Given the description of an element on the screen output the (x, y) to click on. 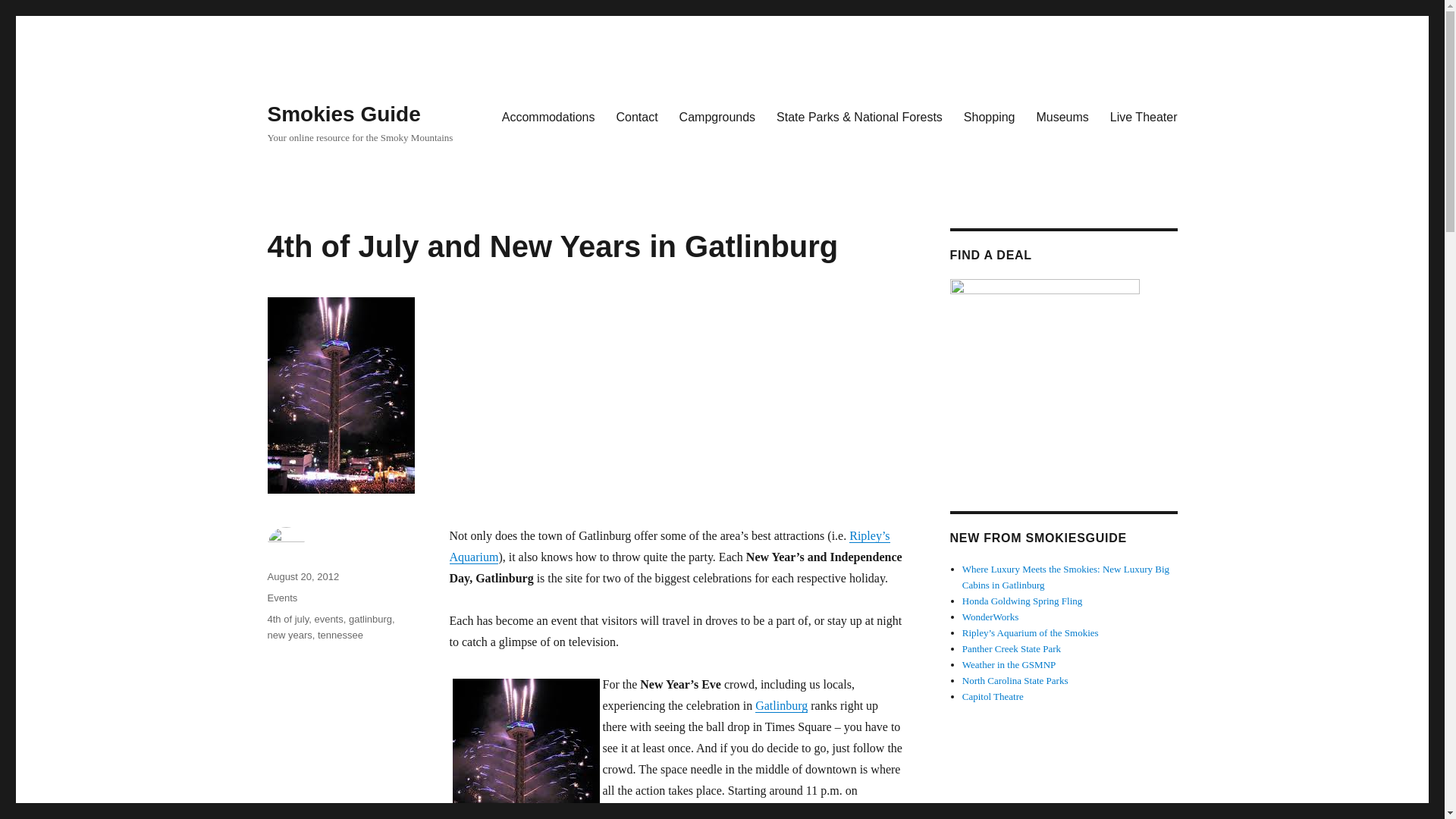
Live Theater (1143, 116)
Honda Goldwing Spring Fling (1022, 600)
Weather in the GSMNP (1009, 664)
WonderWorks (989, 616)
tennessee (339, 634)
Campgrounds (717, 116)
Accommodations (548, 116)
Shopping (989, 116)
gatnewyears (524, 748)
